Given the description of an element on the screen output the (x, y) to click on. 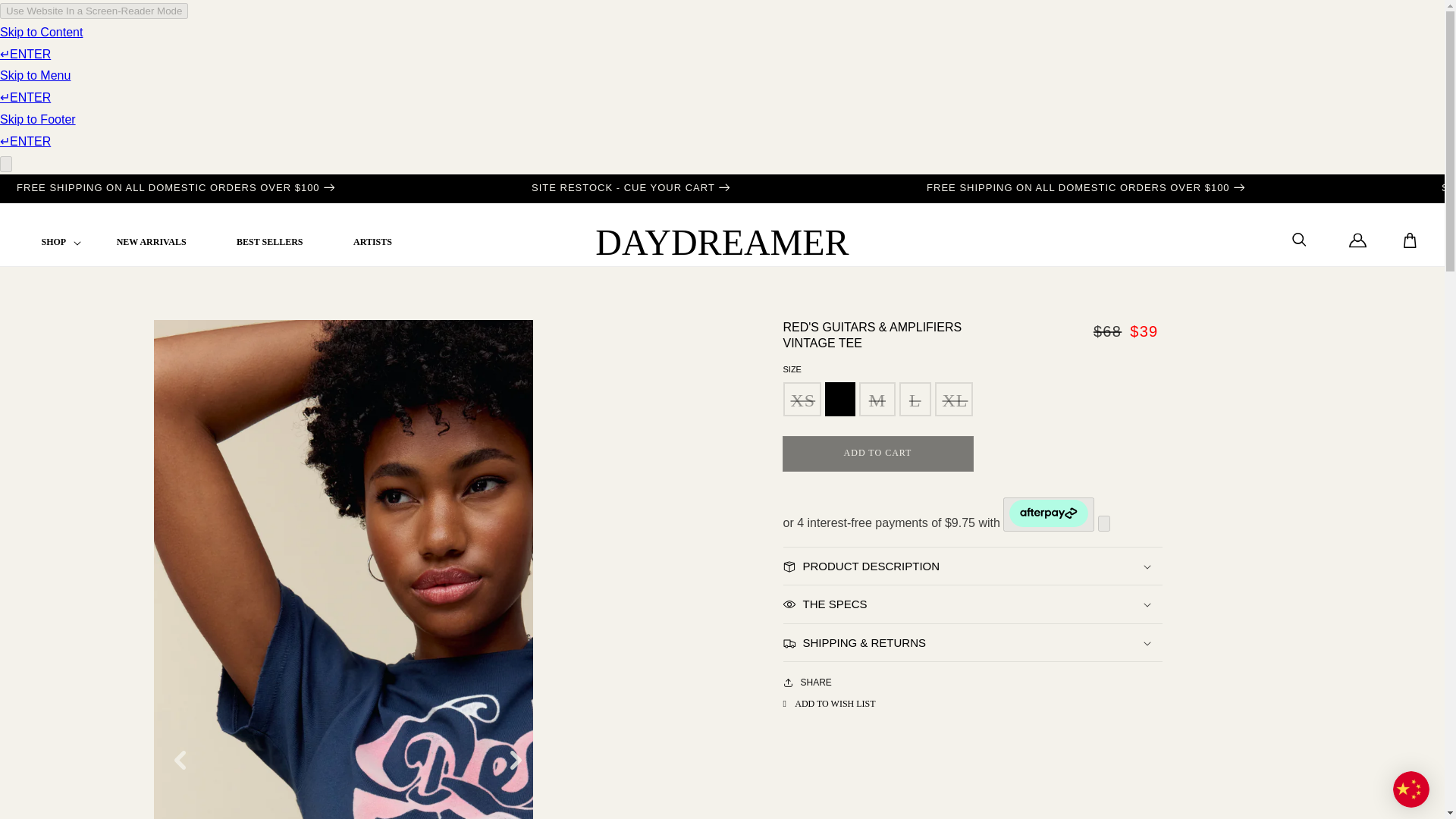
SITE RESTOCK - CUE YOUR CART (630, 188)
Open Zonos Hello (1411, 791)
SEARCH (1299, 239)
SKIP TO CONTENT (45, 16)
